Given the description of an element on the screen output the (x, y) to click on. 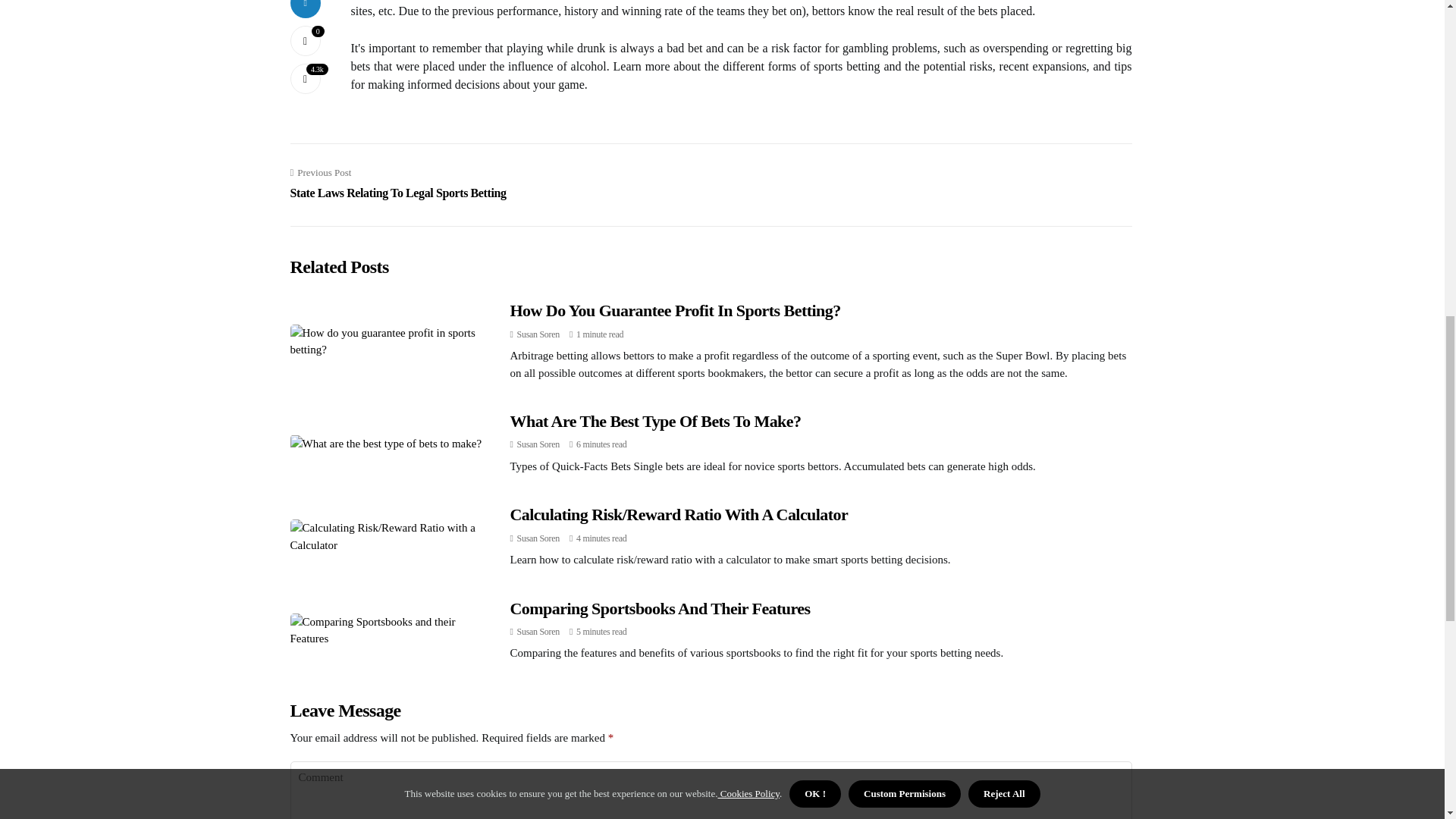
Posts by Susan Soren (537, 538)
Posts by Susan Soren (537, 631)
Posts by Susan Soren (537, 334)
Posts by Susan Soren (537, 443)
